Given the description of an element on the screen output the (x, y) to click on. 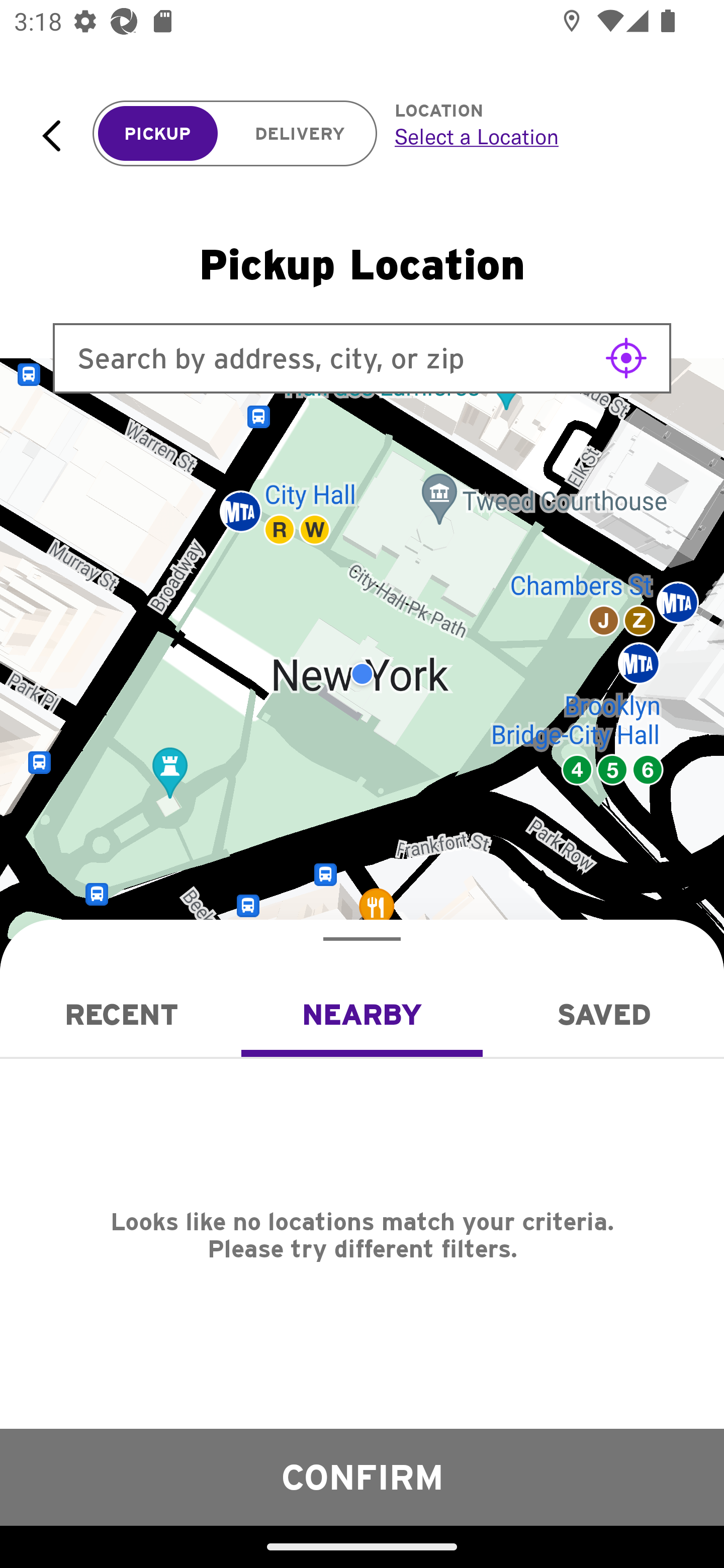
PICKUP (157, 133)
DELIVERY (299, 133)
Select a Location (536, 136)
Search by address, city, or zip (361, 358)
Google Map (362, 674)
Recent RECENT (120, 1014)
Saved SAVED (603, 1014)
CONFIRM (362, 1476)
